Given the description of an element on the screen output the (x, y) to click on. 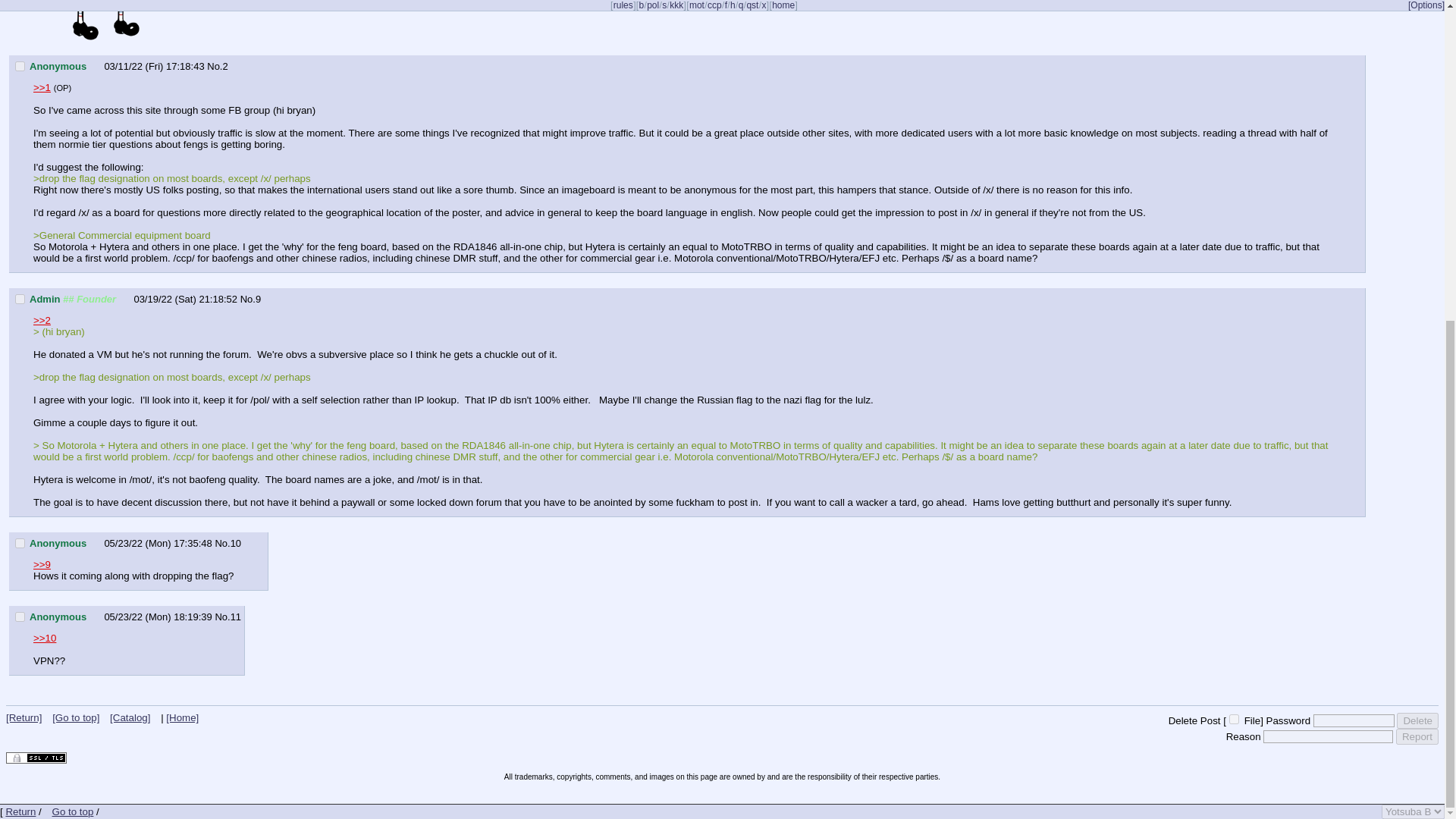
United States (94, 615)
on (1233, 718)
United States (125, 298)
Delete file only (1233, 718)
on (19, 66)
Netherlands (94, 65)
Netherlands (94, 542)
10 (235, 542)
on (19, 542)
on (19, 298)
No. (222, 616)
on (19, 616)
No. (214, 66)
No. (222, 542)
11 (235, 616)
